Given the description of an element on the screen output the (x, y) to click on. 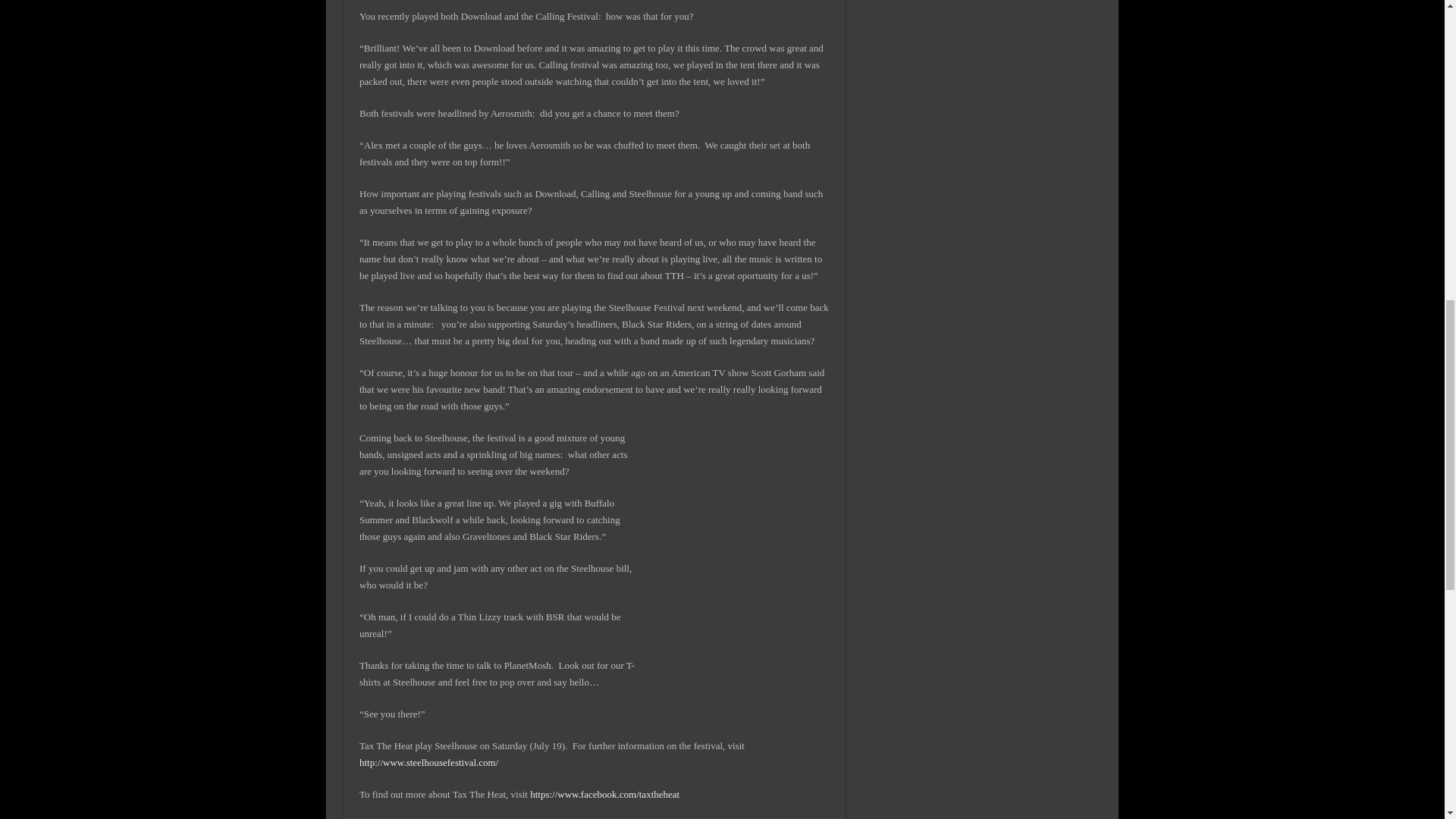
Scroll To Top (1421, 60)
Steelhouse Festival official website (428, 762)
Tax The Heat Facebook page (604, 794)
